Given the description of an element on the screen output the (x, y) to click on. 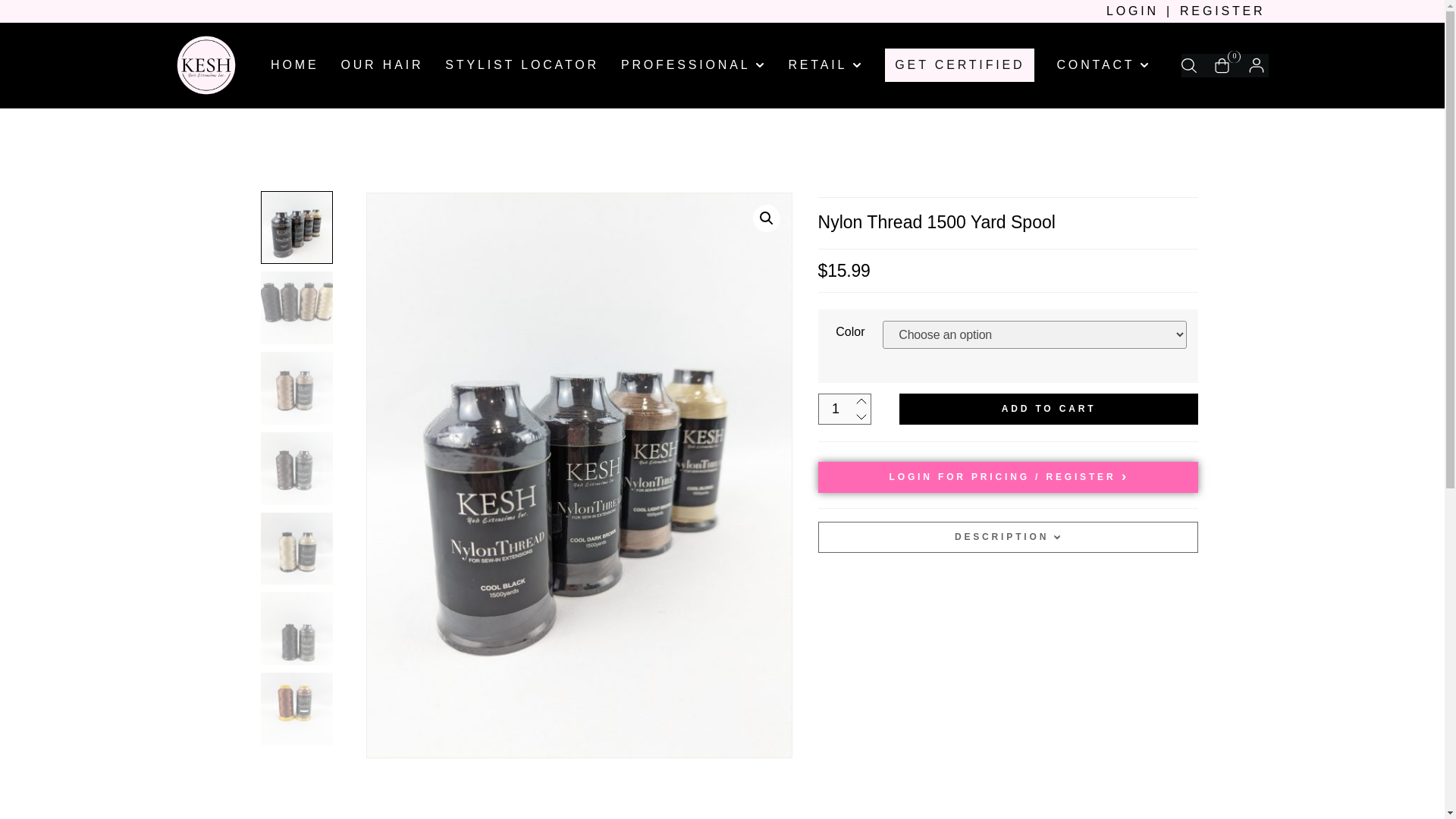
LOGIN (1132, 11)
PROFESSIONAL (694, 64)
CONTACT (1103, 64)
STYLIST LOCATOR (521, 64)
REGISTER (1222, 11)
HOME (294, 64)
GET CERTIFIED (959, 64)
OUR HAIR (381, 64)
1 (844, 409)
Qty (844, 409)
RETAIL (825, 64)
